Given the description of an element on the screen output the (x, y) to click on. 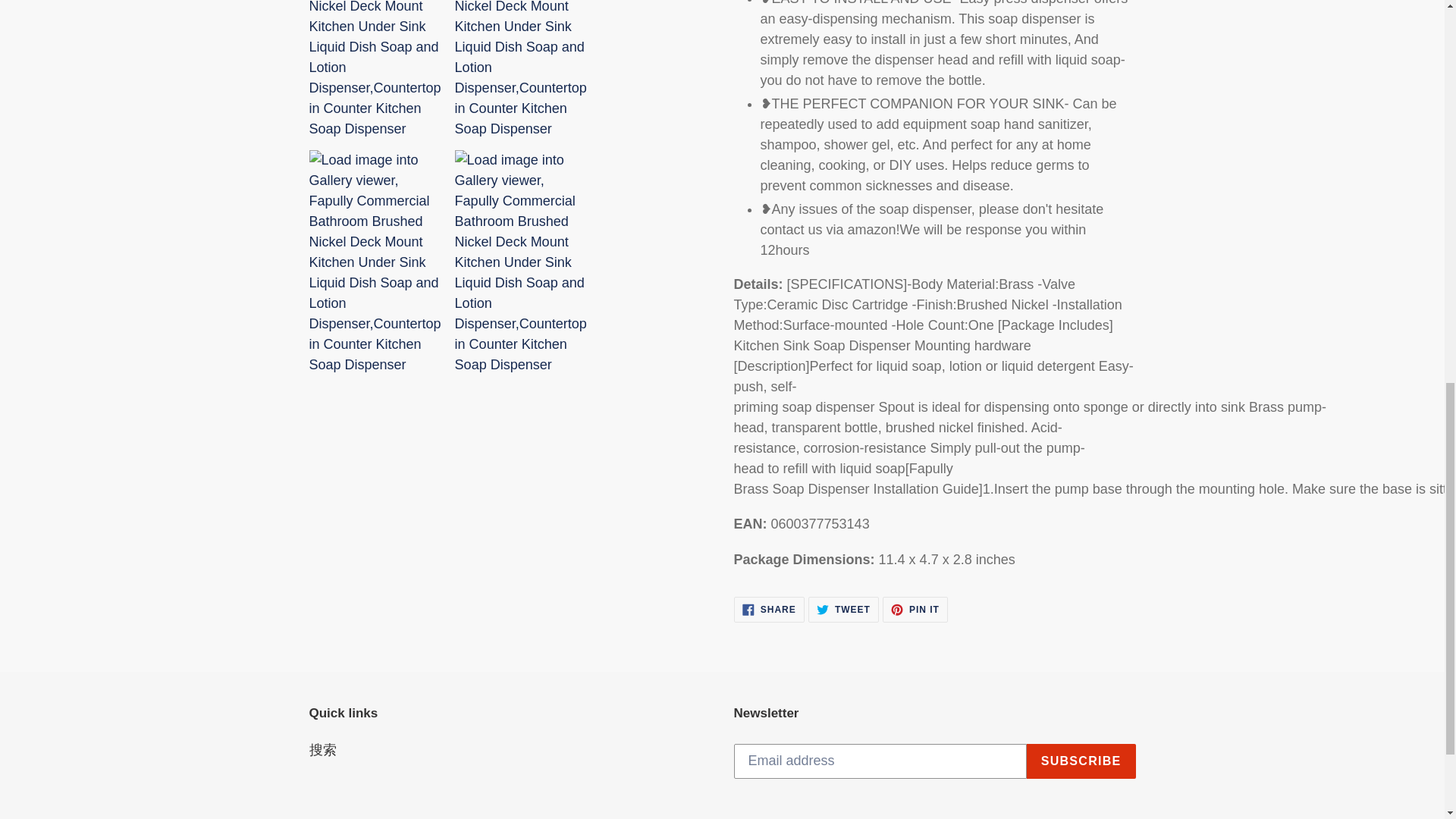
SUBSCRIBE (1080, 760)
